Given the description of an element on the screen output the (x, y) to click on. 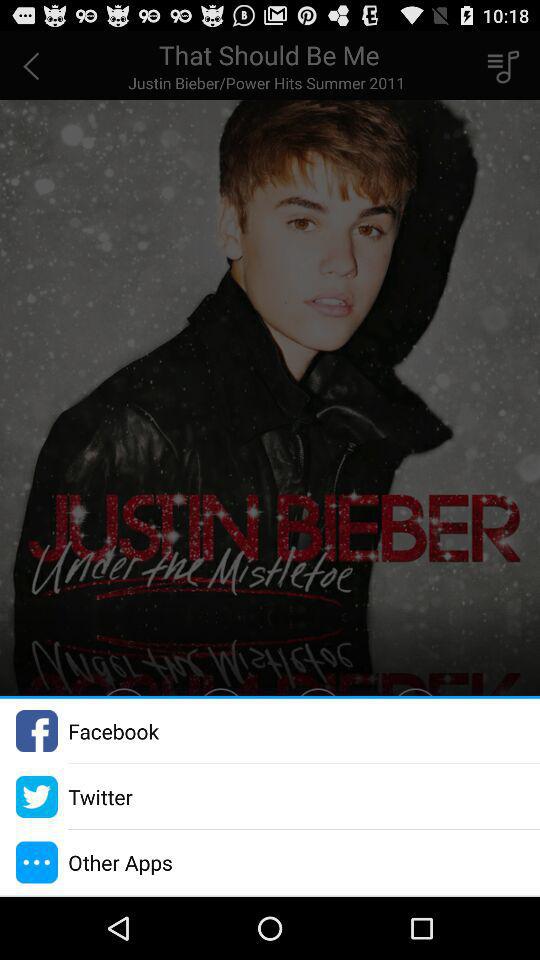
select the twitter item (100, 796)
